Given the description of an element on the screen output the (x, y) to click on. 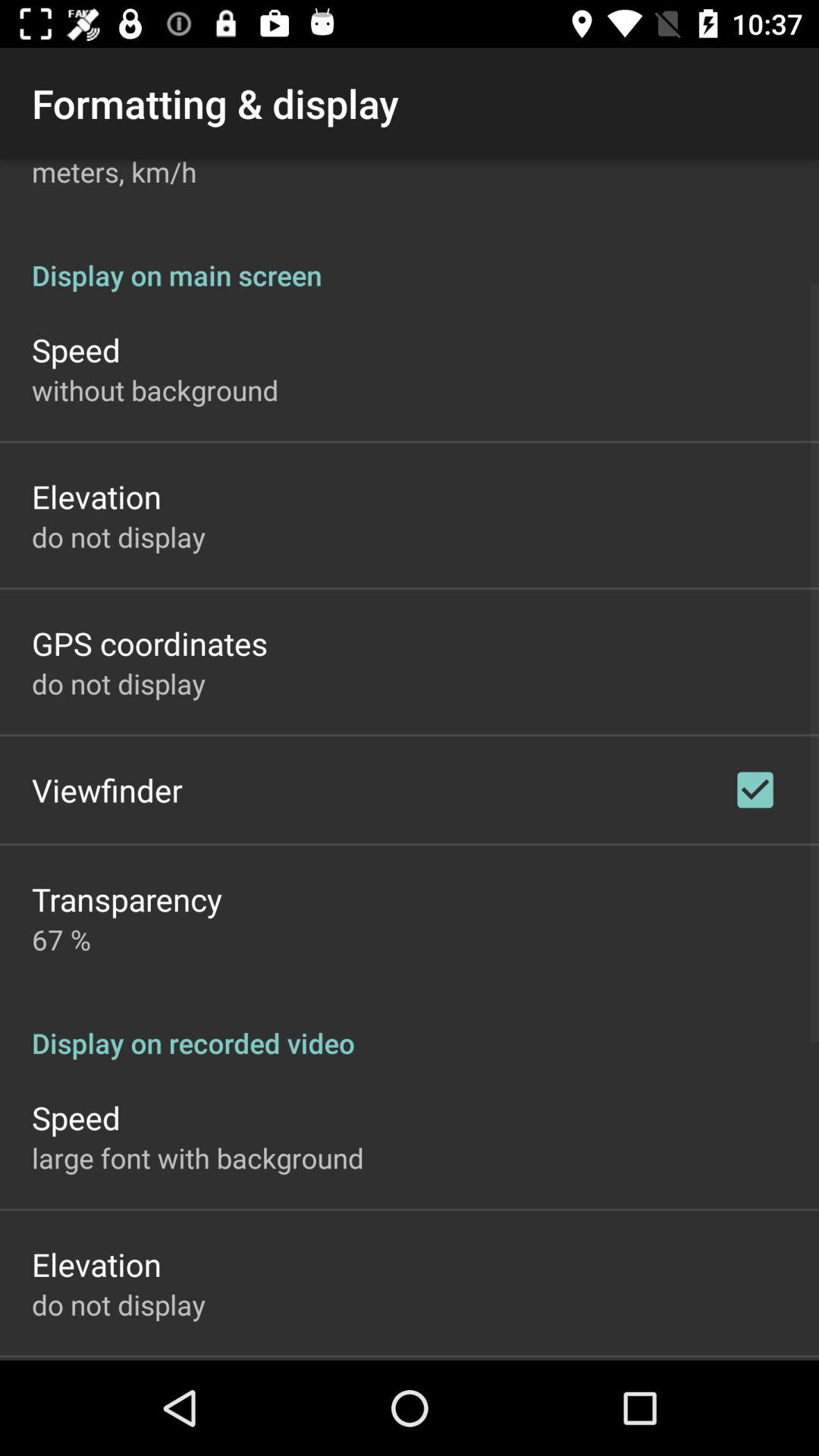
press the icon below the speed item (154, 389)
